Given the description of an element on the screen output the (x, y) to click on. 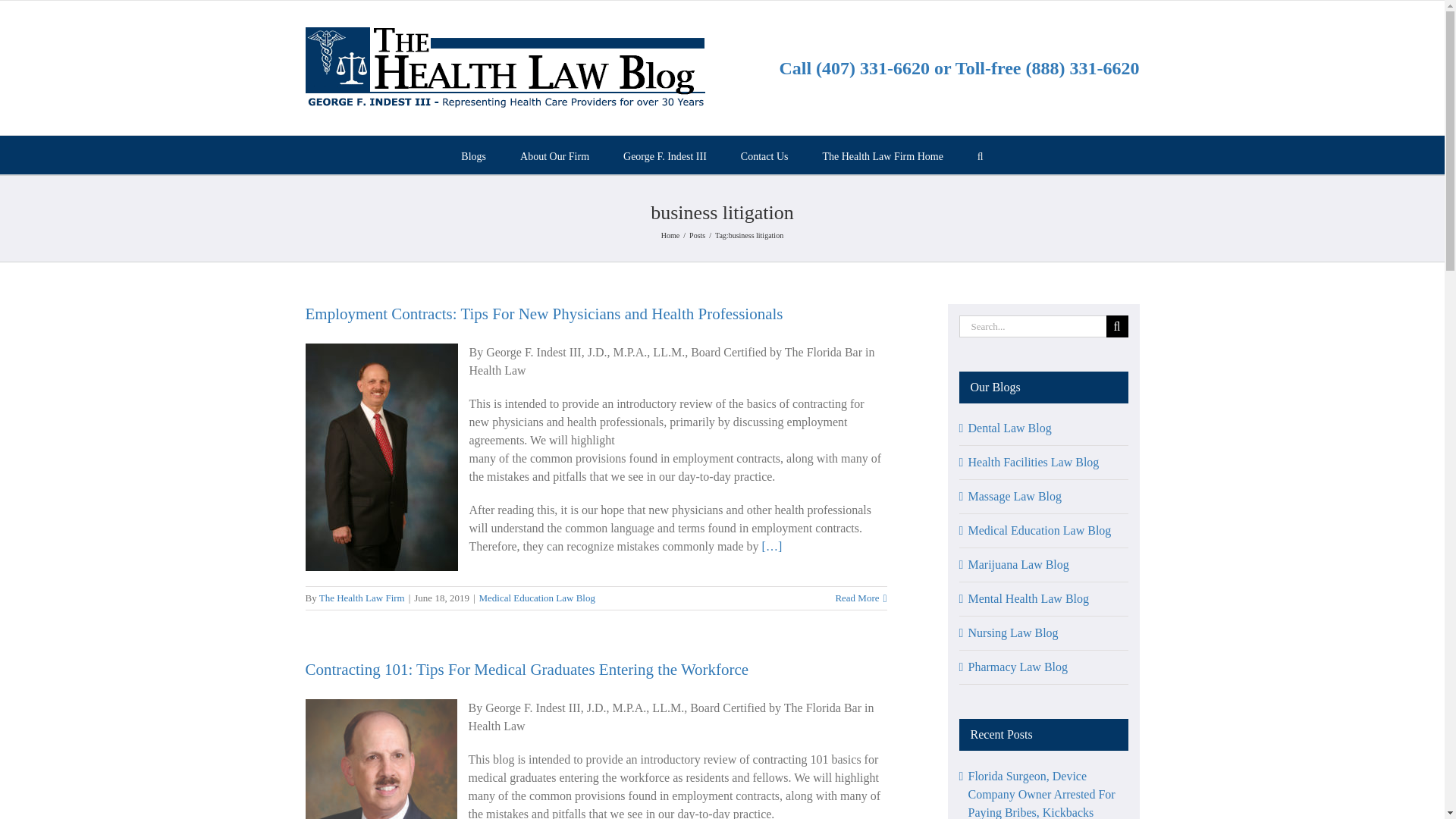
Contact Us (765, 154)
Posts (696, 234)
The Health Law Firm Home (882, 154)
Posts by The Health Law Firm (361, 597)
About Our Firm (554, 154)
The Health Law Firm (361, 597)
George F. Indest III (664, 154)
Home (670, 234)
